Given the description of an element on the screen output the (x, y) to click on. 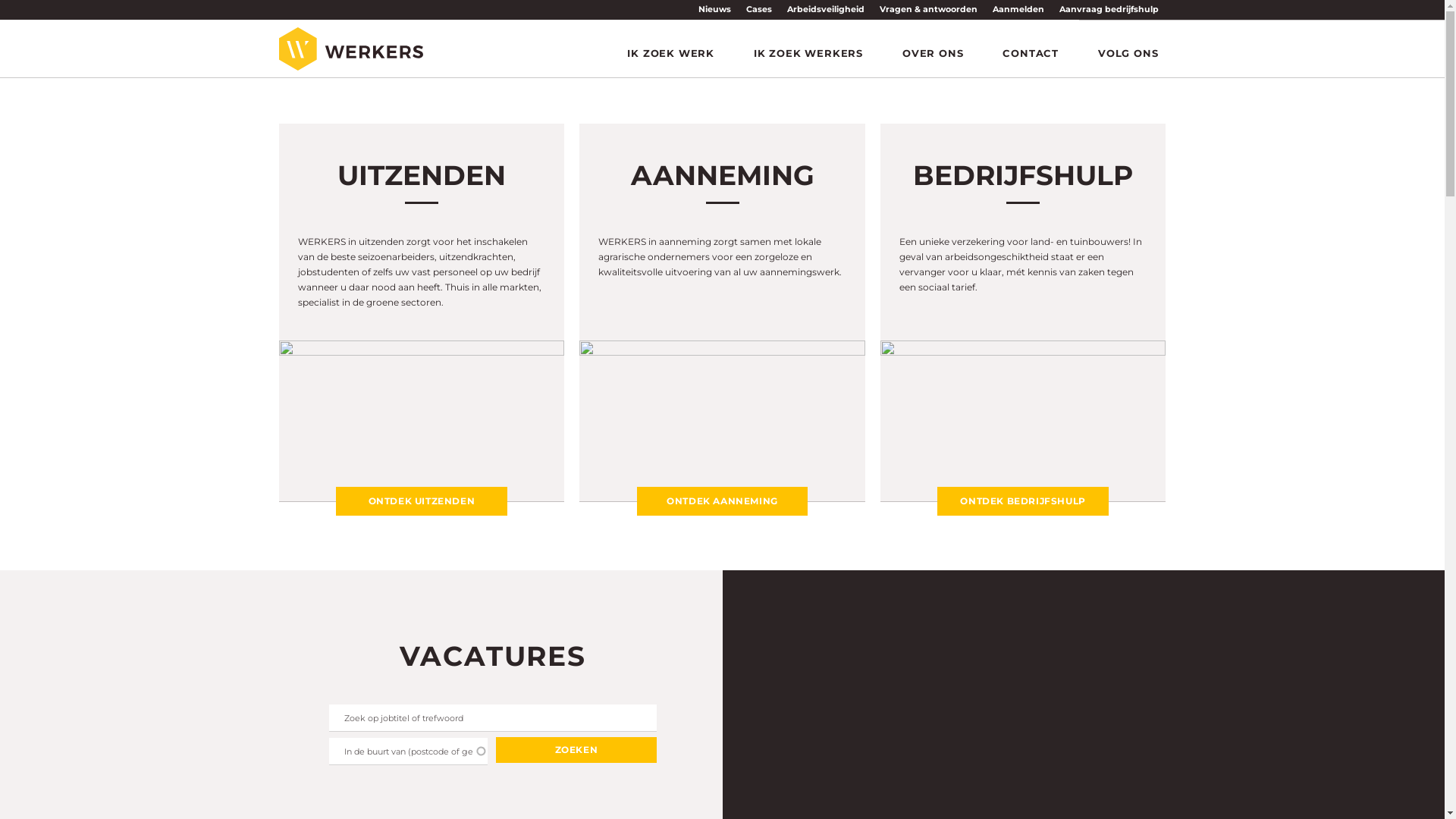
OVER ONS Element type: text (932, 52)
Vragen & antwoorden Element type: text (928, 9)
CONTACT Element type: text (1030, 52)
Arbeidsveiligheid Element type: text (825, 9)
ONTDEK AANNEMING Element type: text (722, 500)
Cases Element type: text (758, 9)
IK ZOEK WERK Element type: text (670, 52)
ONTDEK UITZENDEN Element type: text (421, 500)
Nieuws Element type: text (713, 9)
ONTDEK BEDRIJFSHULP Element type: text (1022, 500)
Aanmelden Element type: text (1017, 9)
IK ZOEK WERKERS Element type: text (807, 52)
Home Element type: hover (351, 48)
Zoeken Element type: text (575, 749)
VOLG ONS Element type: text (1127, 52)
Aanvraag bedrijfshulp Element type: text (1108, 9)
